Given the description of an element on the screen output the (x, y) to click on. 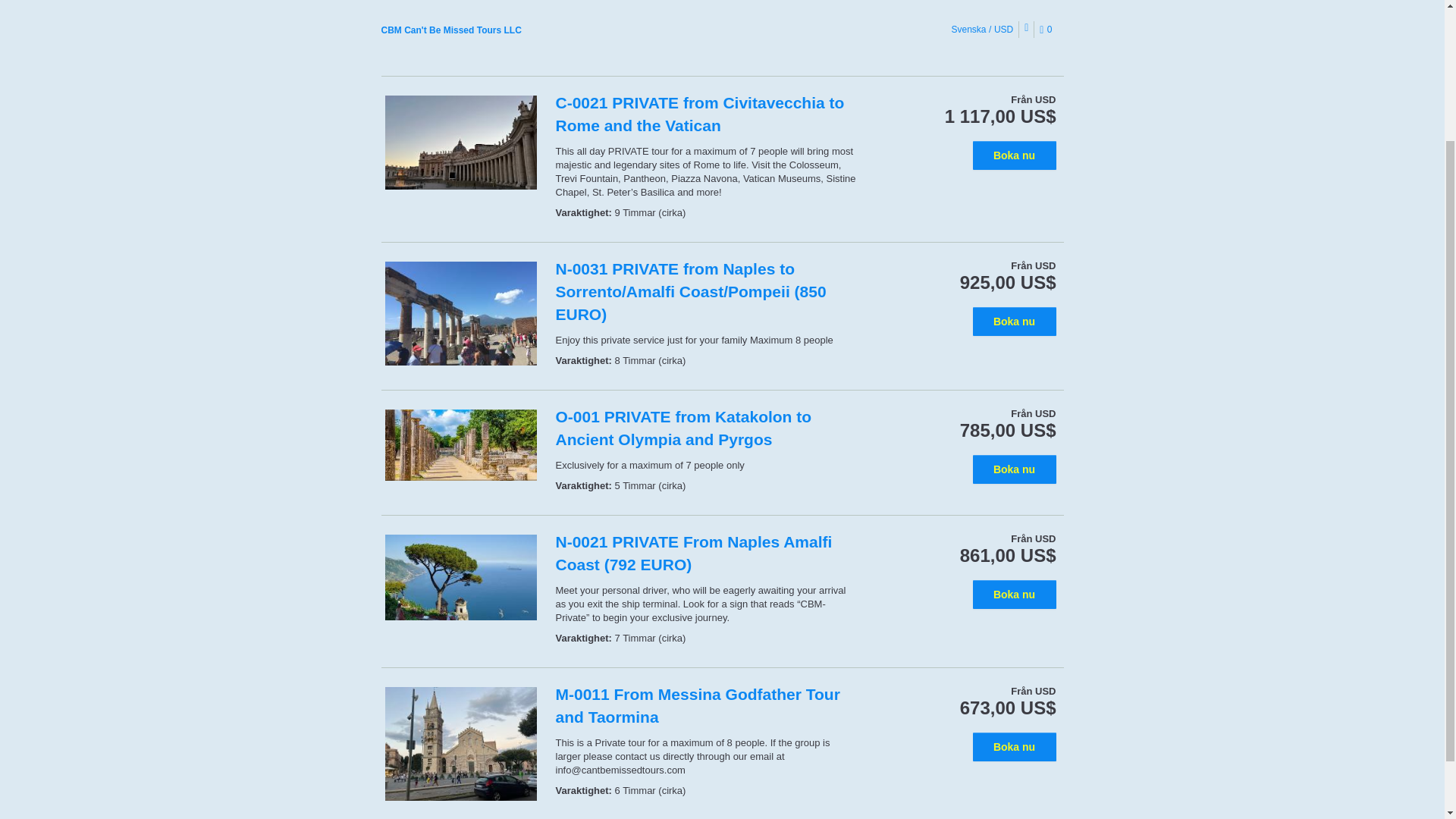
Estimated conversion from 785 (1008, 430)
Estimated conversion from 673 (1008, 708)
Estimated conversion from 925 (1008, 282)
Estimated conversion from 1117 (1000, 116)
Estimated conversion from 861 (1008, 556)
